Given the description of an element on the screen output the (x, y) to click on. 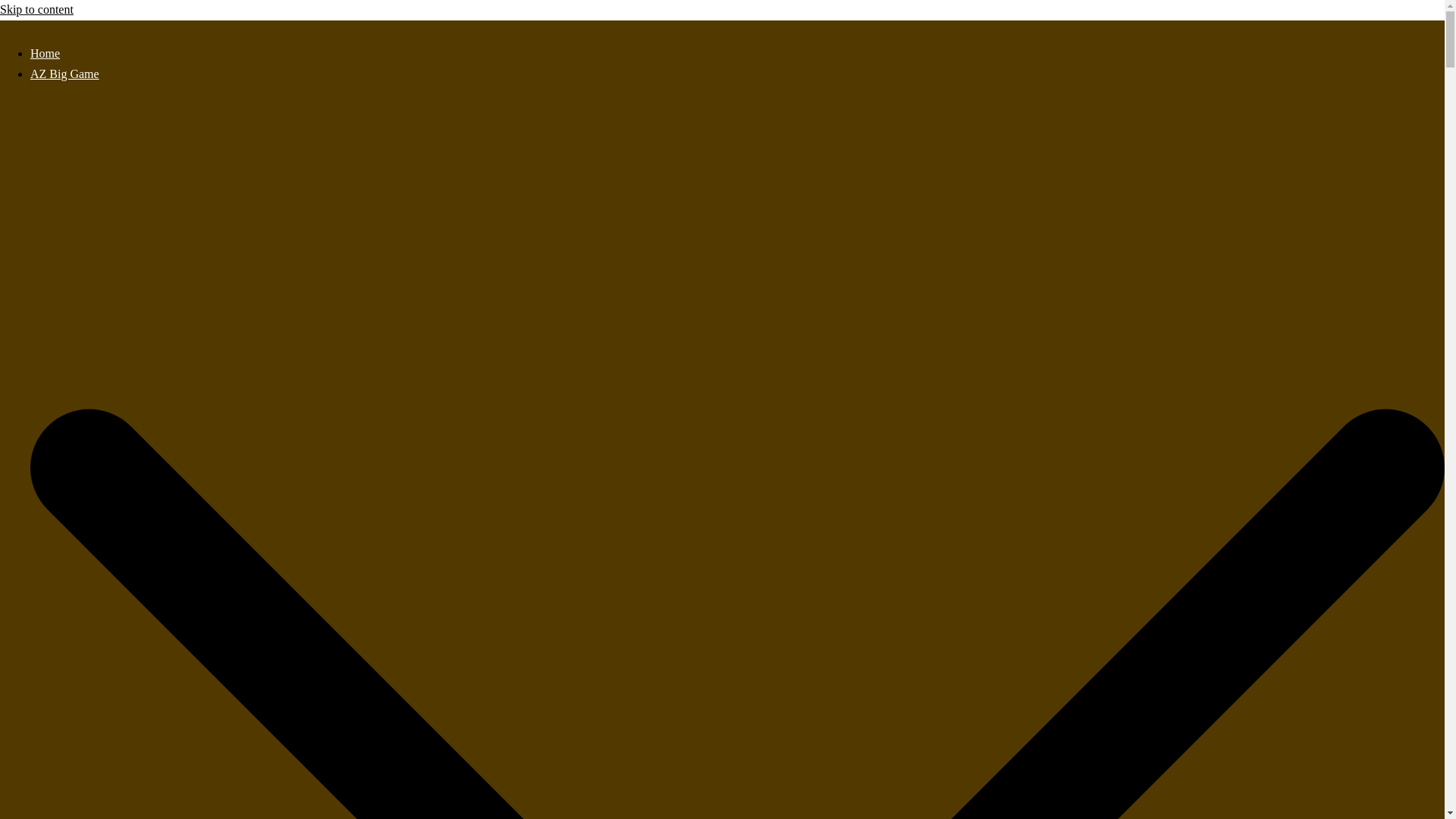
Skip to content (37, 9)
Home (44, 52)
AZ Big Game (64, 73)
